Given the description of an element on the screen output the (x, y) to click on. 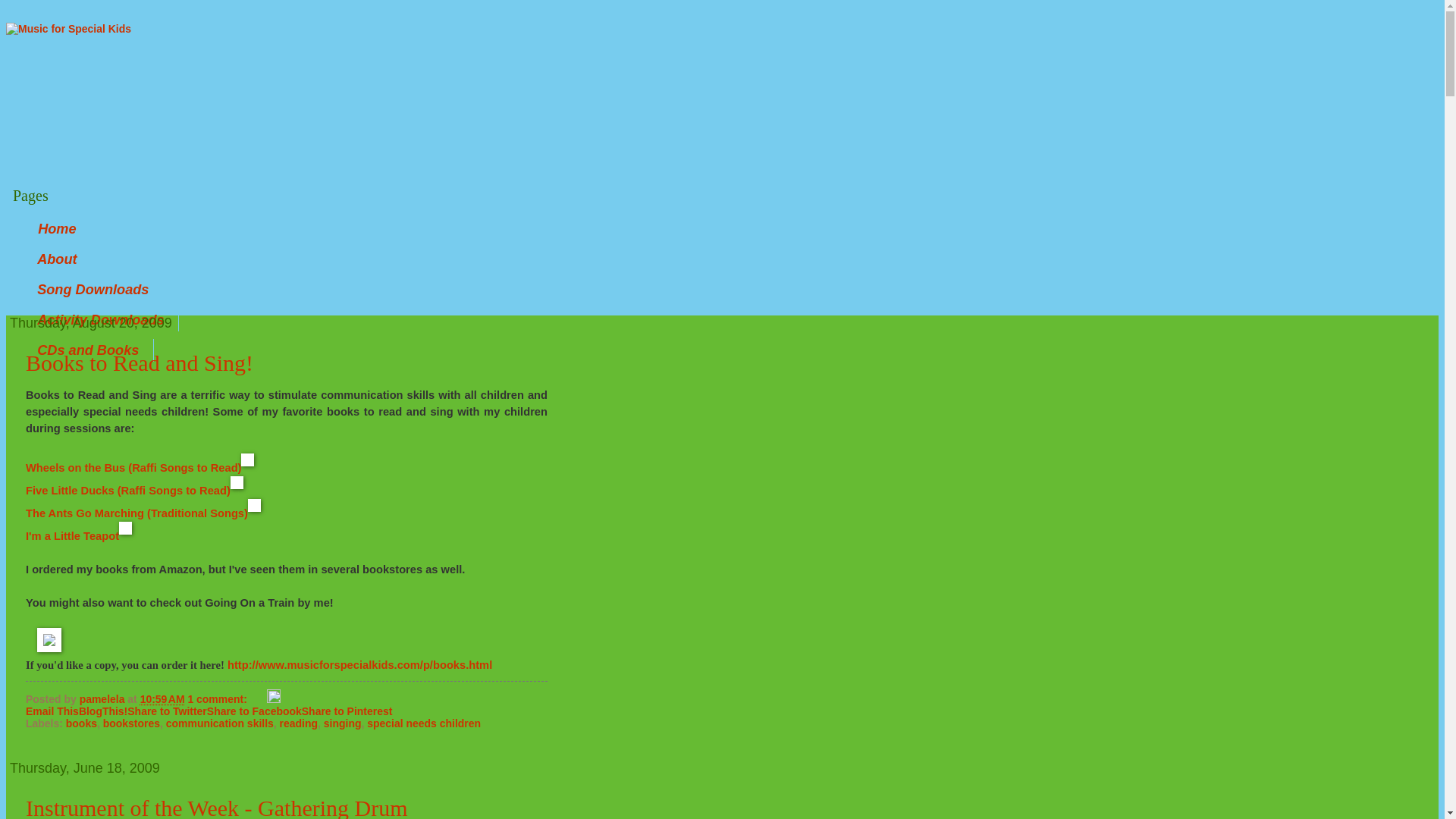
Share to Pinterest (347, 711)
Share to Pinterest (347, 711)
Share to Facebook (253, 711)
BlogThis! (103, 711)
Home (56, 229)
CDs and Books (88, 350)
About (57, 259)
Email This (52, 711)
Share to Facebook (253, 711)
Activity Downloads (101, 319)
1 comment: (217, 698)
Instrument of the Week - Gathering Drum (216, 807)
pamelela (104, 698)
BlogThis! (103, 711)
Share to Twitter (167, 711)
